Given the description of an element on the screen output the (x, y) to click on. 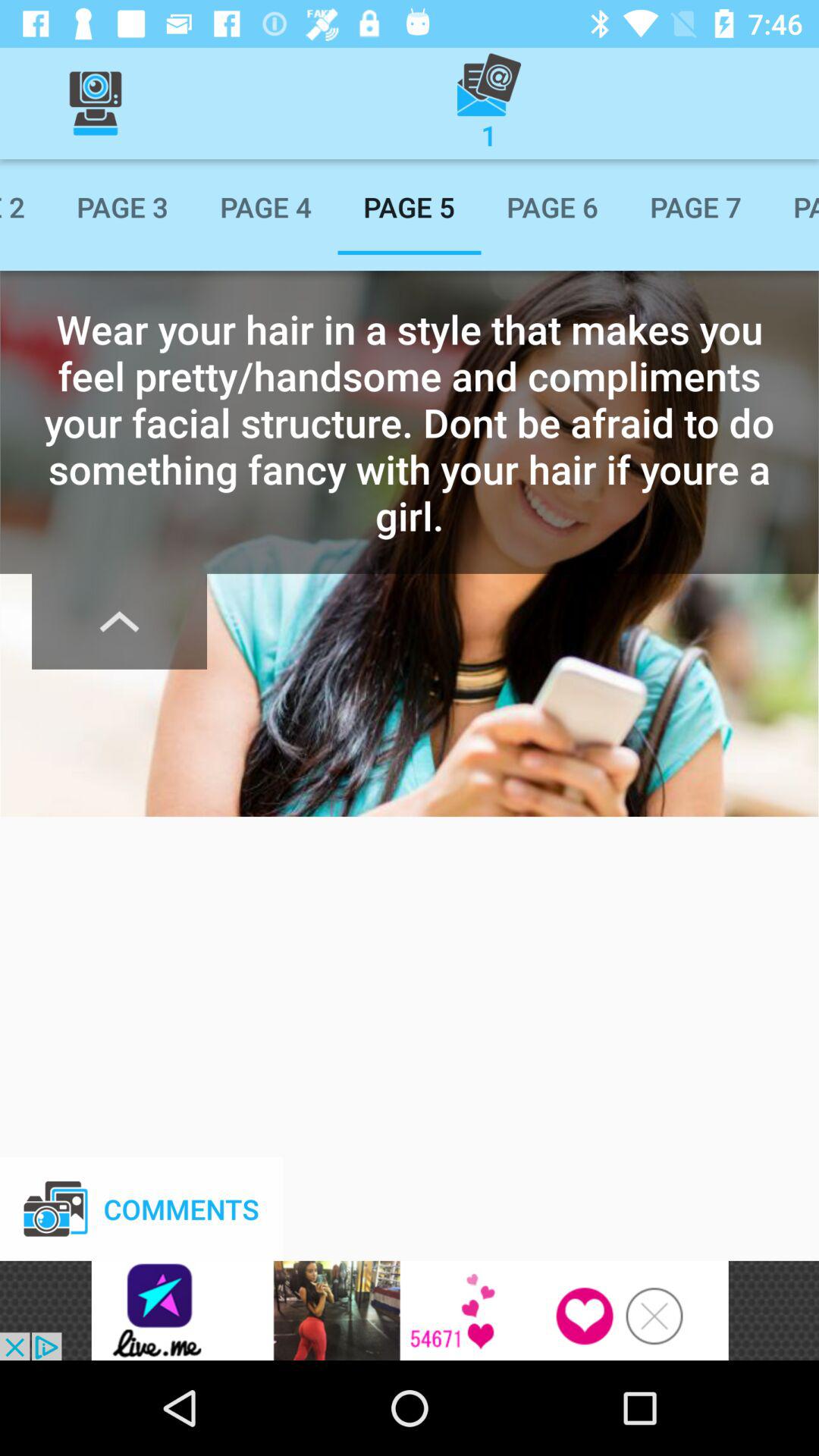
advertisent page (409, 1310)
